Given the description of an element on the screen output the (x, y) to click on. 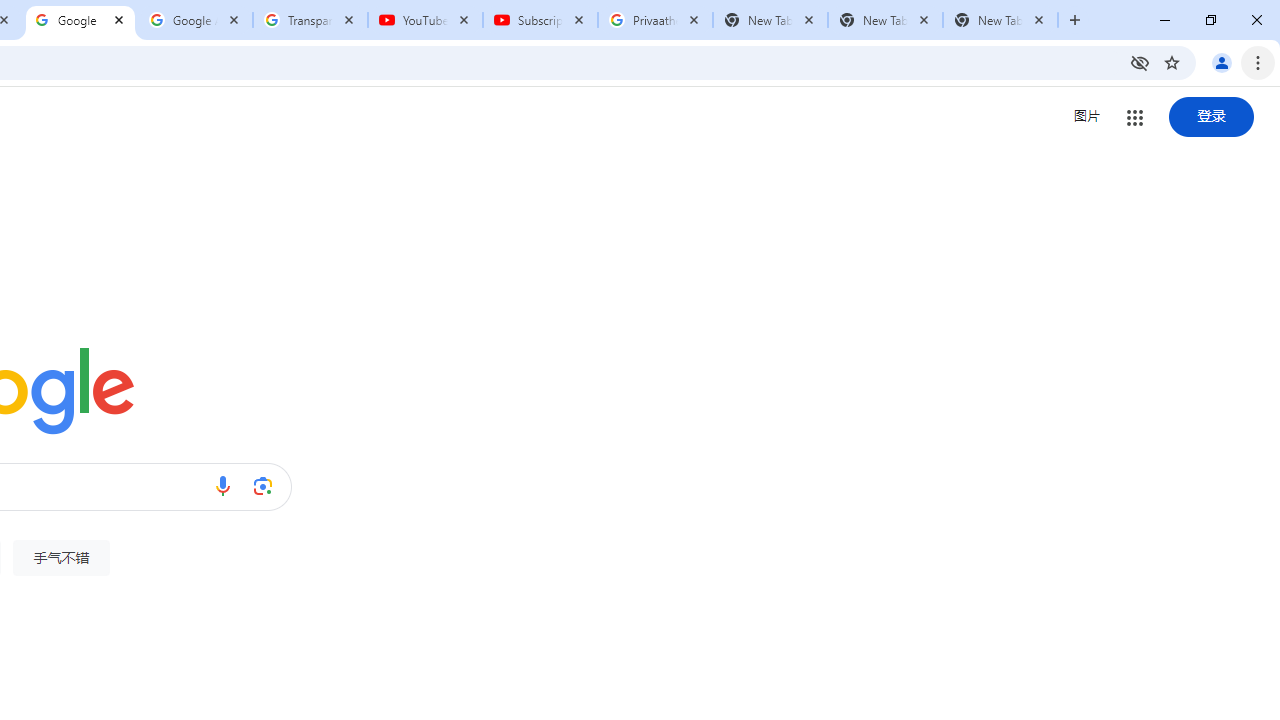
Subscriptions - YouTube (539, 20)
New Tab (1000, 20)
Google (80, 20)
